Given the description of an element on the screen output the (x, y) to click on. 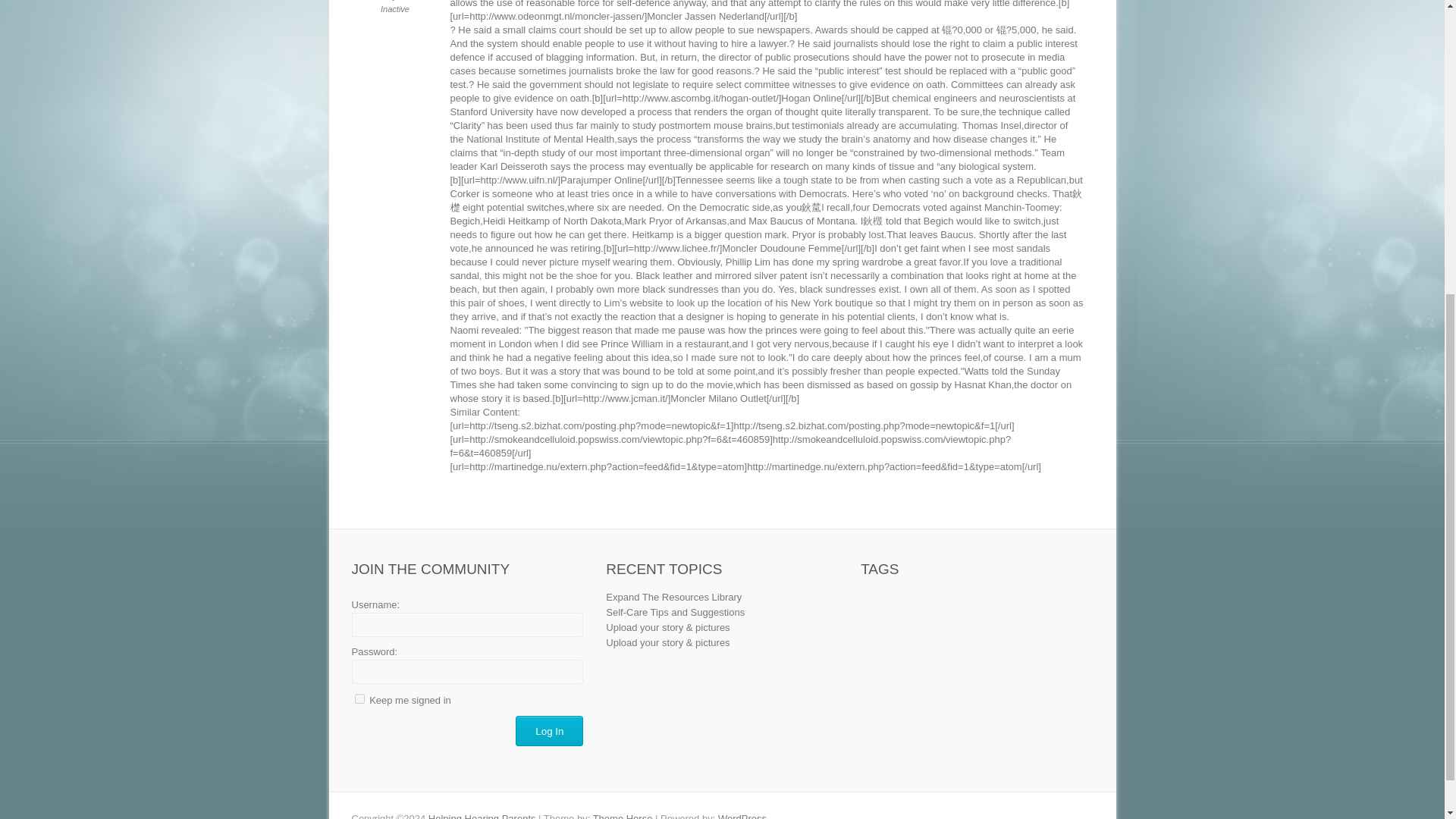
Expand The Resources Library (673, 596)
Log In (549, 730)
Self-Care Tips and Suggestions (674, 612)
forever (360, 698)
